Given the description of an element on the screen output the (x, y) to click on. 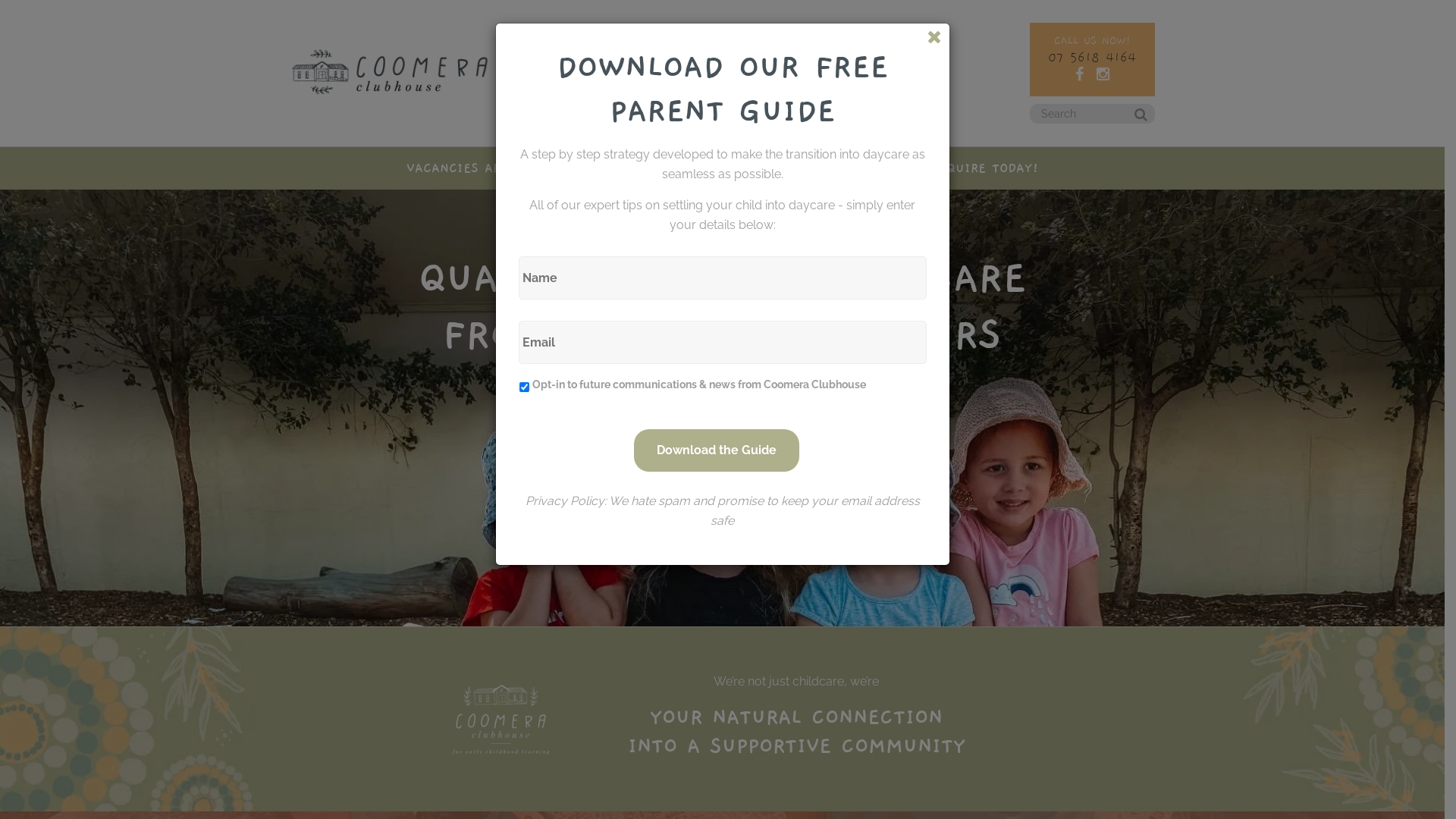
07 5618 4164 Element type: text (1091, 57)
contact us Element type: text (892, 69)
community Element type: text (698, 69)
for families Element type: text (766, 69)
programs Element type: text (633, 69)
Download the Guide Element type: text (716, 450)
wellbeing Element type: text (830, 69)
home Element type: text (532, 69)
Search Element type: text (1131, 118)
centres Element type: text (578, 69)
